Given the description of an element on the screen output the (x, y) to click on. 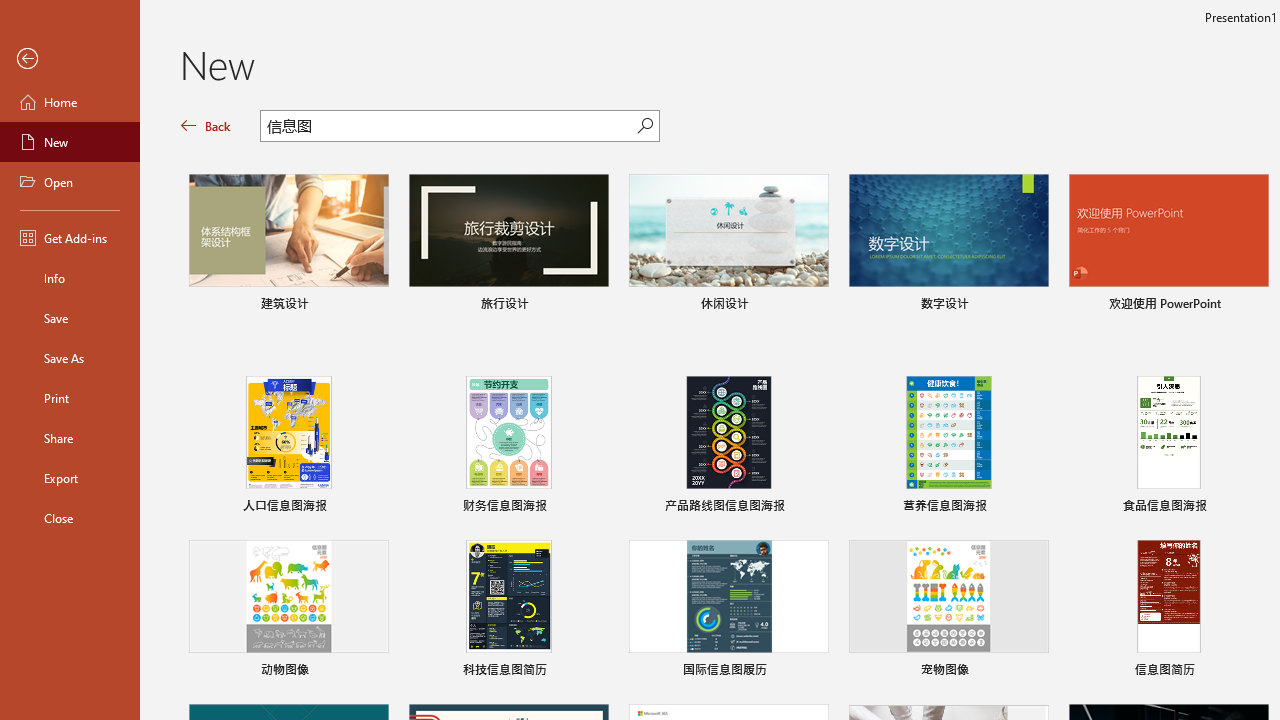
Back (69, 59)
Save As (69, 357)
Get Add-ins (69, 237)
Pin to list (1255, 671)
Search for online templates and themes (449, 128)
